Given the description of an element on the screen output the (x, y) to click on. 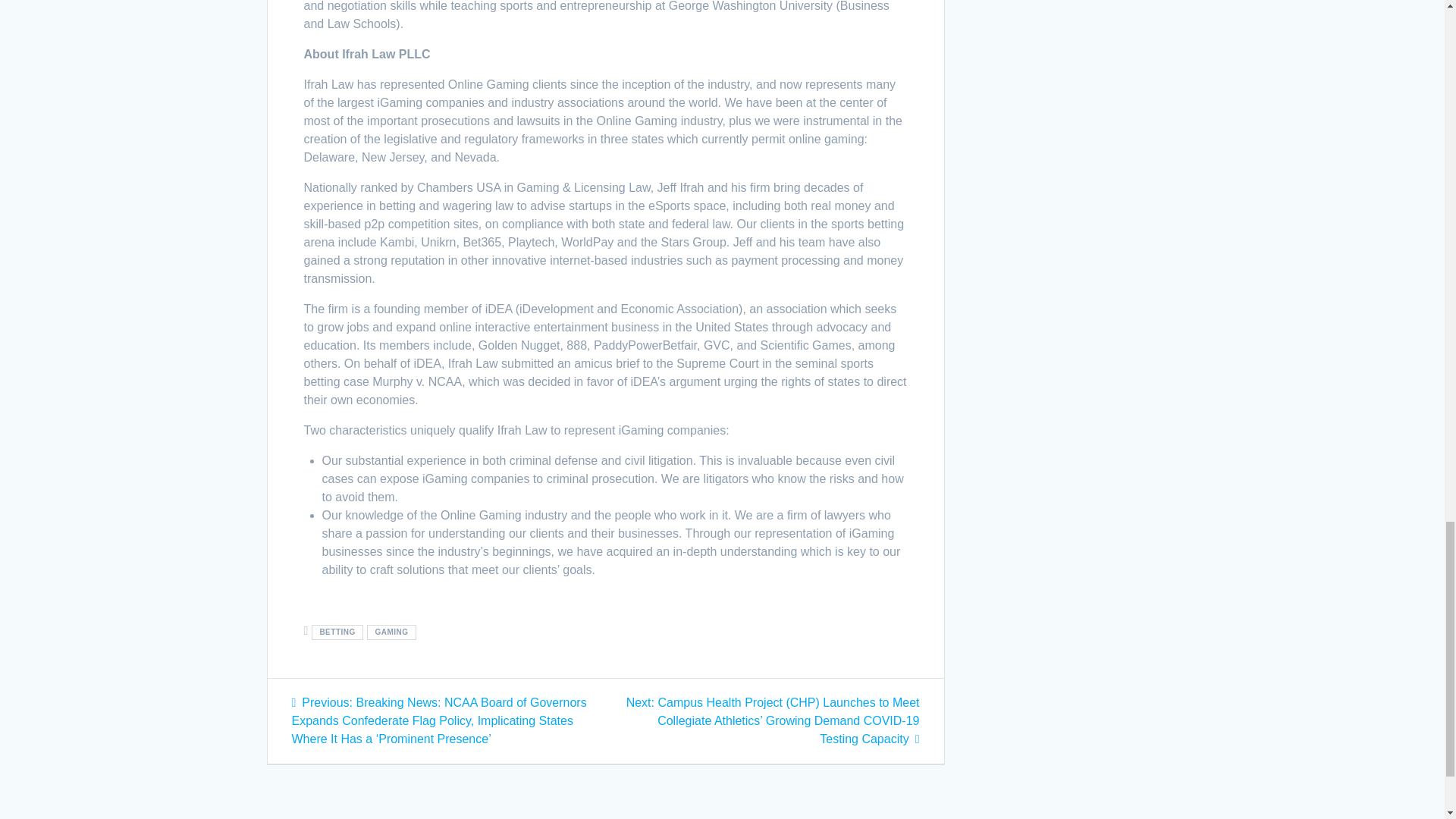
GAMING (391, 631)
BETTING (337, 631)
